Given the description of an element on the screen output the (x, y) to click on. 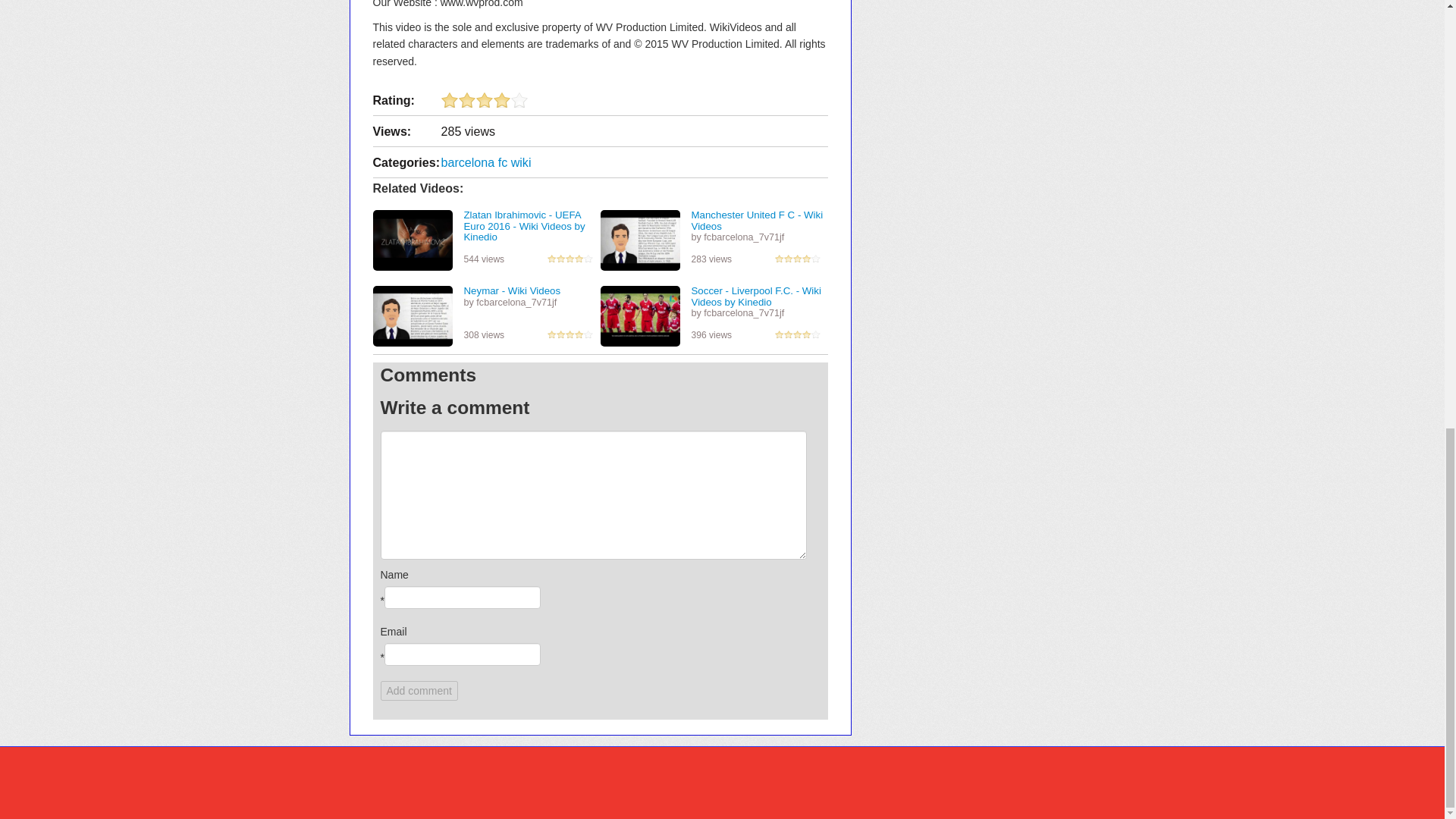
Add comment (419, 690)
